Given the description of an element on the screen output the (x, y) to click on. 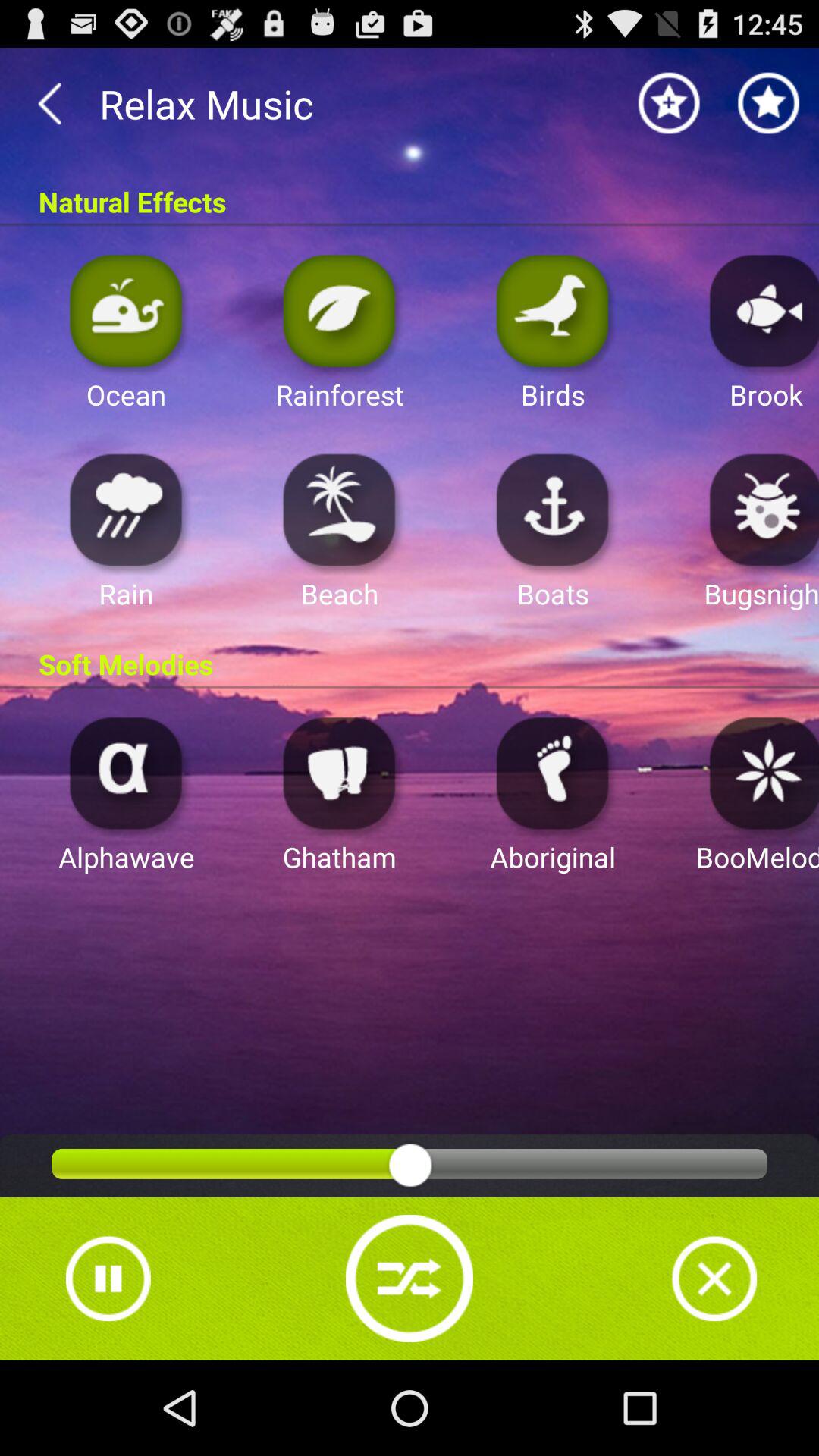
pause button (107, 1278)
